Given the description of an element on the screen output the (x, y) to click on. 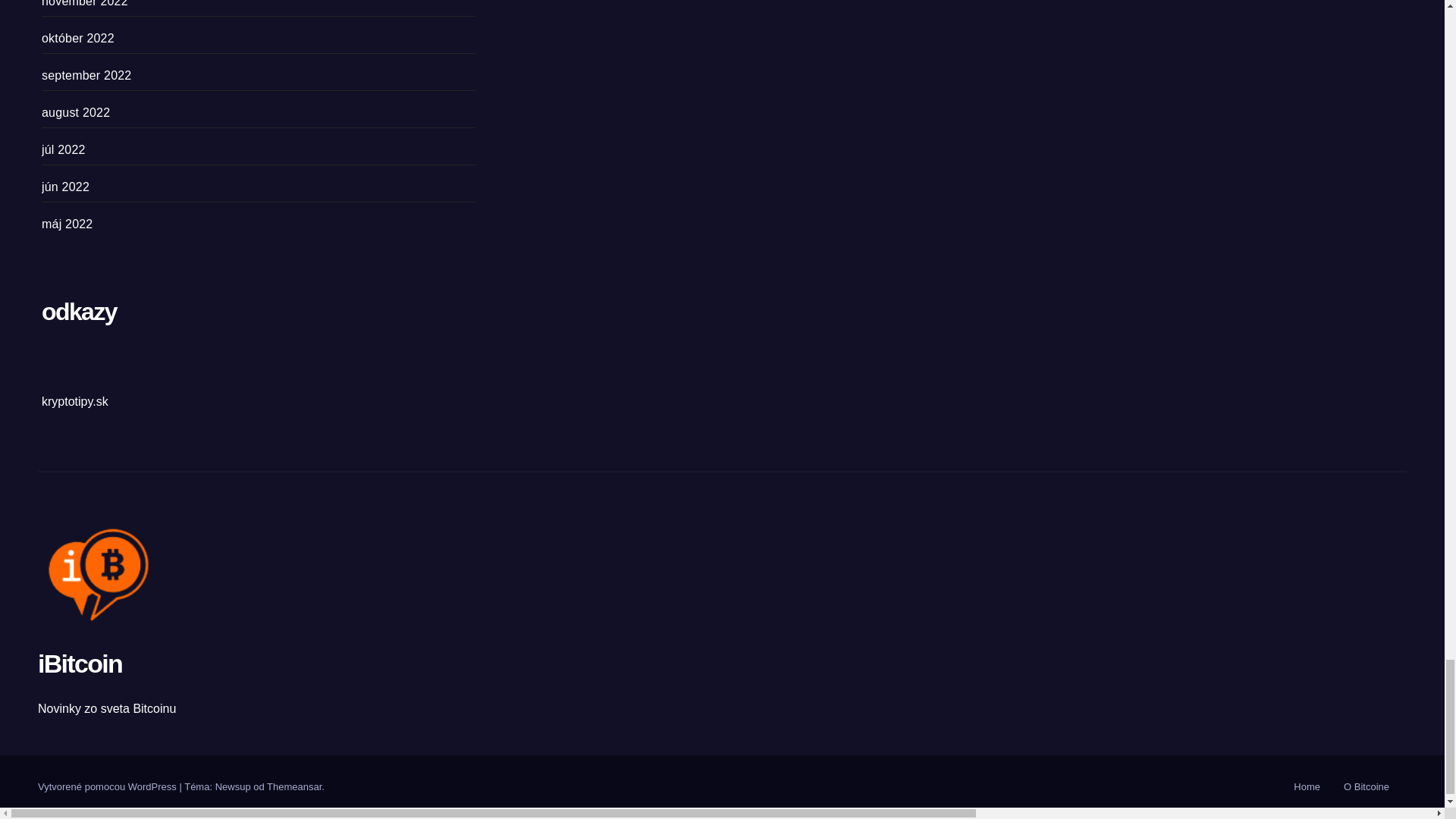
Home (1306, 786)
